Given the description of an element on the screen output the (x, y) to click on. 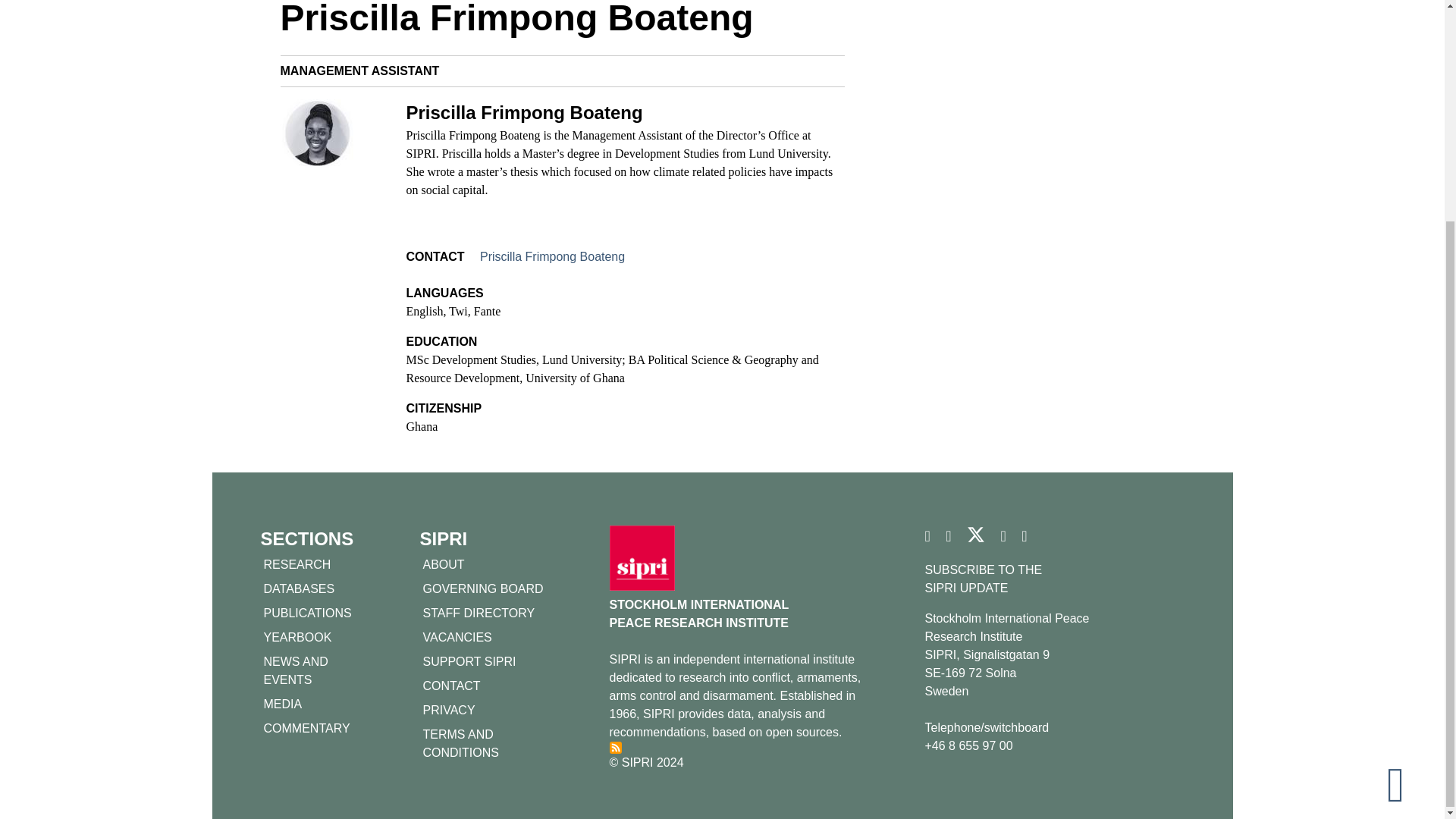
Click to return to the top of the page (1408, 488)
Follow us on Twitter (975, 539)
SIPRI RSS feed (615, 747)
